Given the description of an element on the screen output the (x, y) to click on. 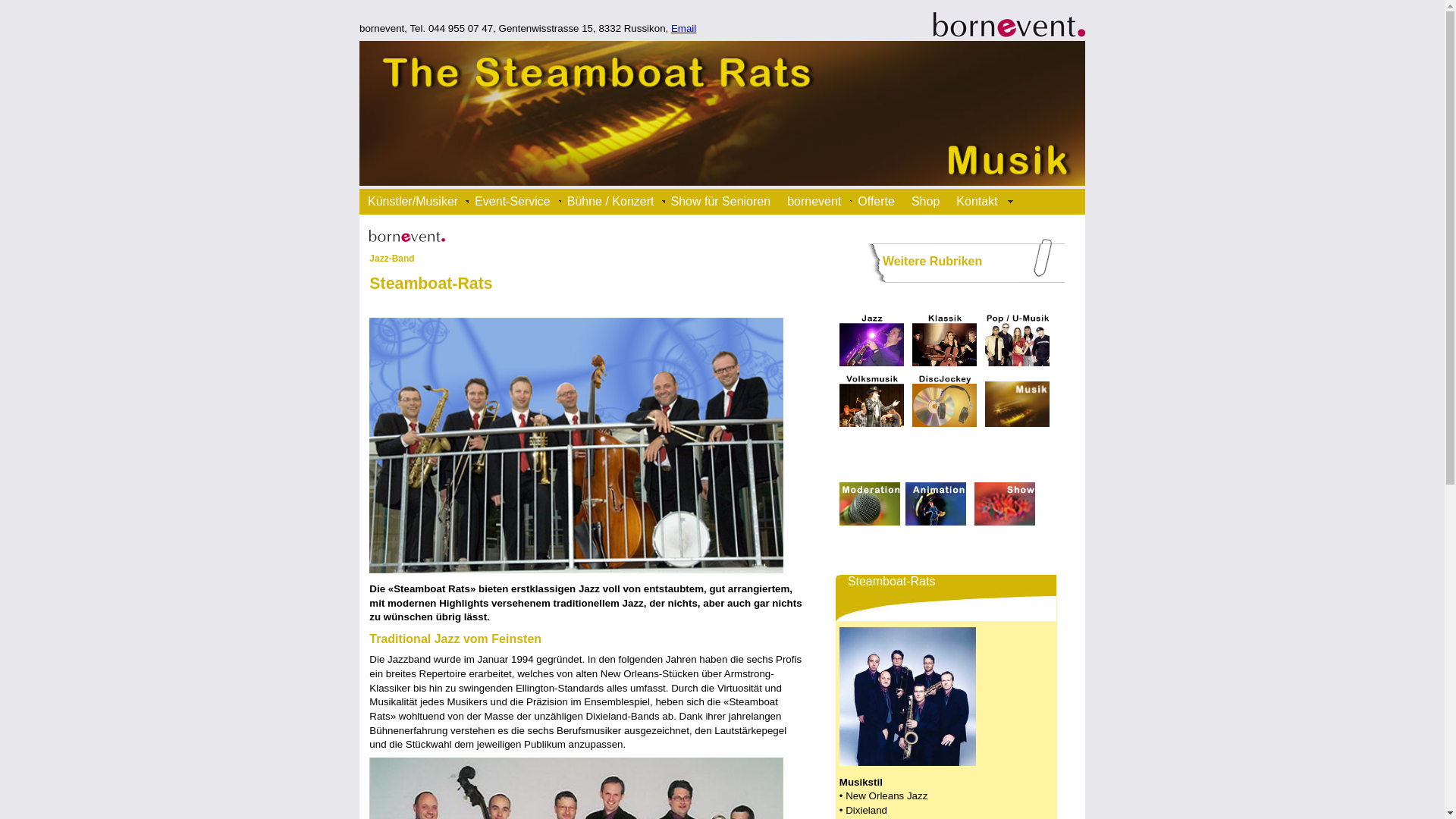
Jazz Element type: hover (871, 340)
Shop Element type: text (931, 201)
Event-Service Element type: text (518, 201)
DiscJockey Element type: hover (944, 400)
Offerte Element type: text (882, 201)
Steamboat-Rats Element type: hover (907, 696)
bornevent Element type: text (820, 201)
Steamboat-Rats Element type: hover (575, 445)
Kontakt Element type: text (982, 201)
Email Element type: text (683, 28)
Pop-Musik - Unterhaltungsmusik Element type: hover (1017, 340)
klassische Musik Element type: hover (944, 340)
Volksmusik Folk Element type: hover (871, 400)
